Given the description of an element on the screen output the (x, y) to click on. 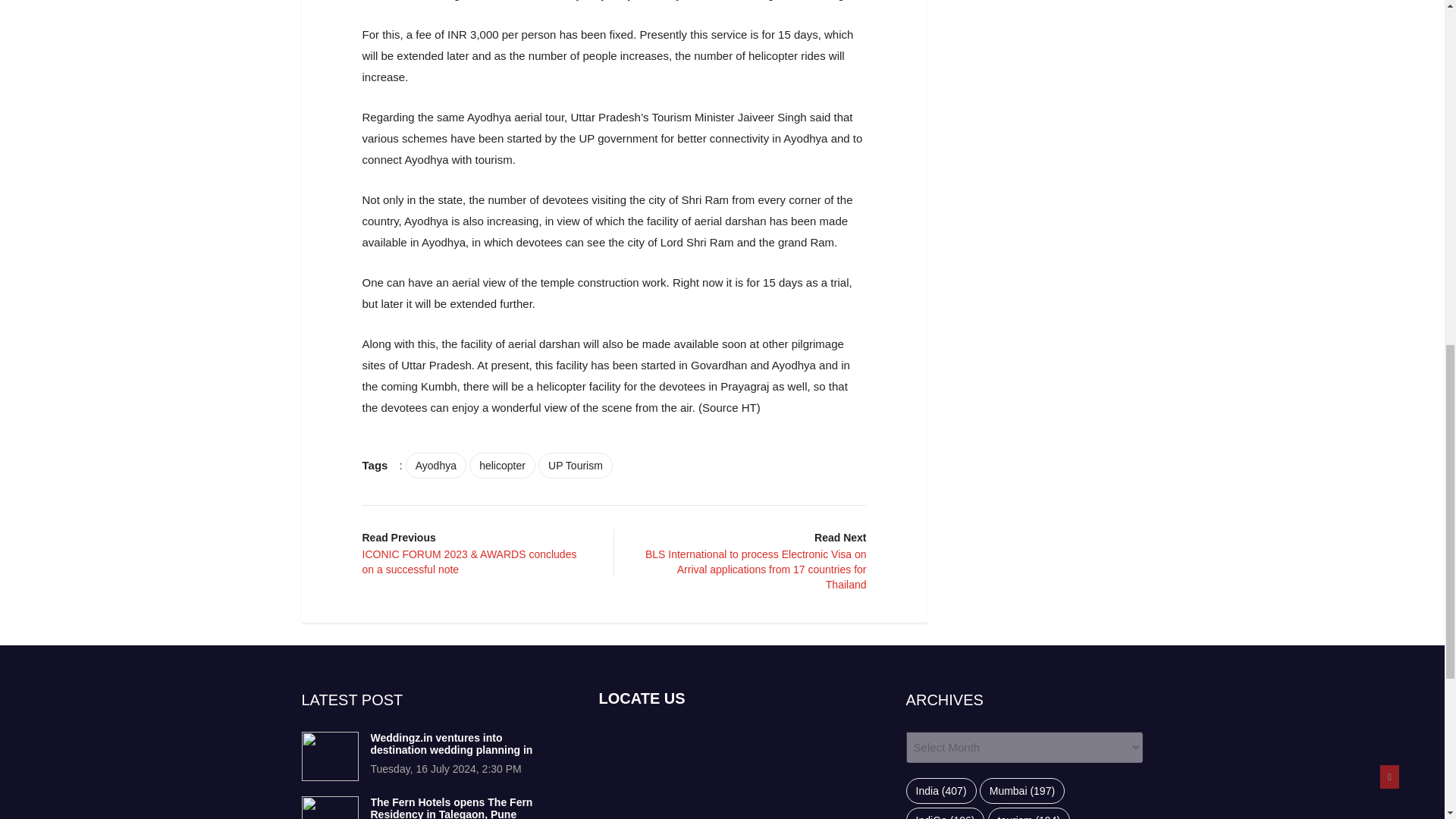
The Fern Hotels opens The Fern Residency in Talegaon, Pune (329, 807)
The Fern Hotels opens The Fern Residency in Talegaon, Pune (450, 807)
